Given the description of an element on the screen output the (x, y) to click on. 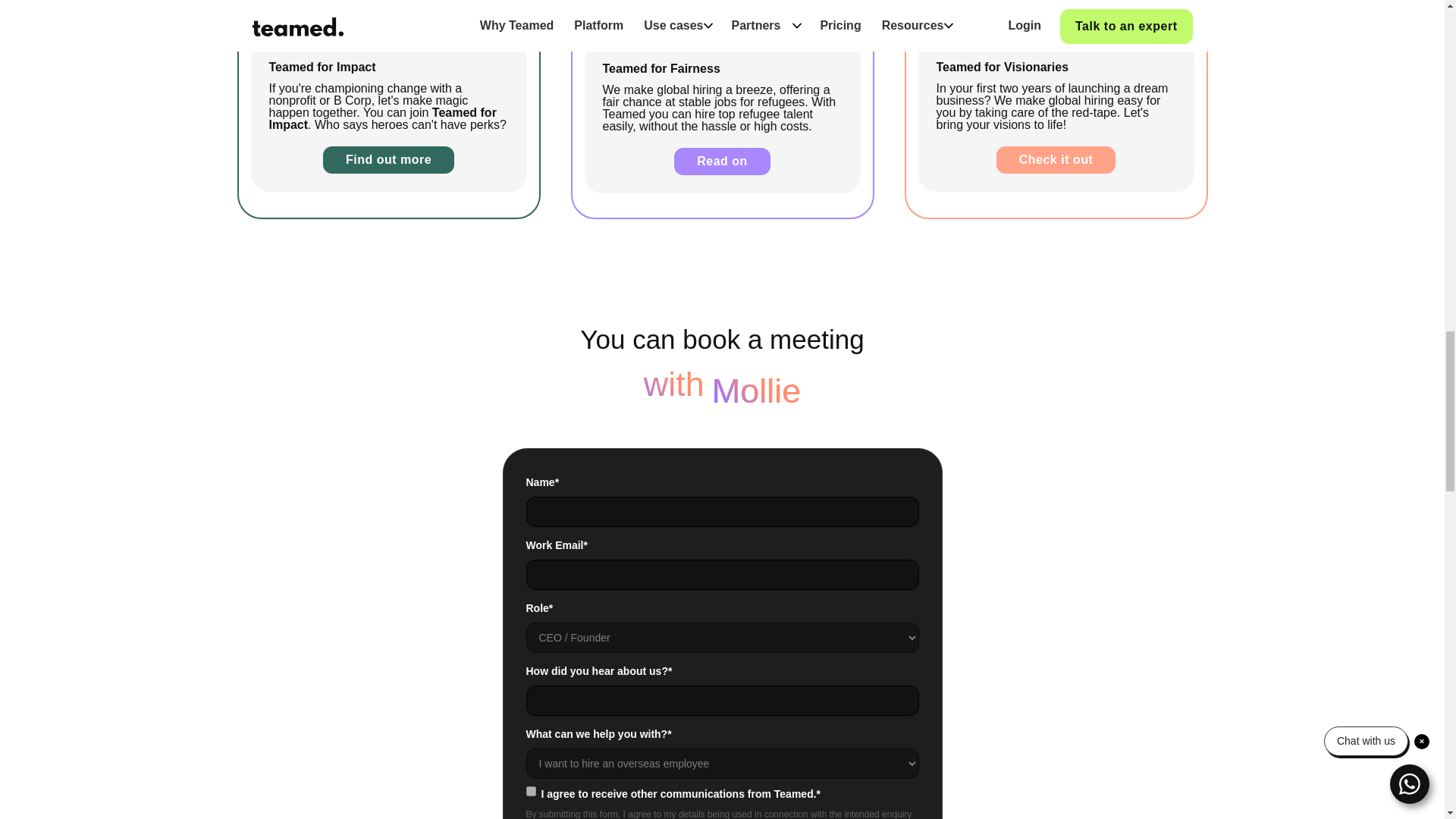
Read on (722, 161)
Find out more (388, 159)
true (530, 791)
Check it out (1055, 159)
